Given the description of an element on the screen output the (x, y) to click on. 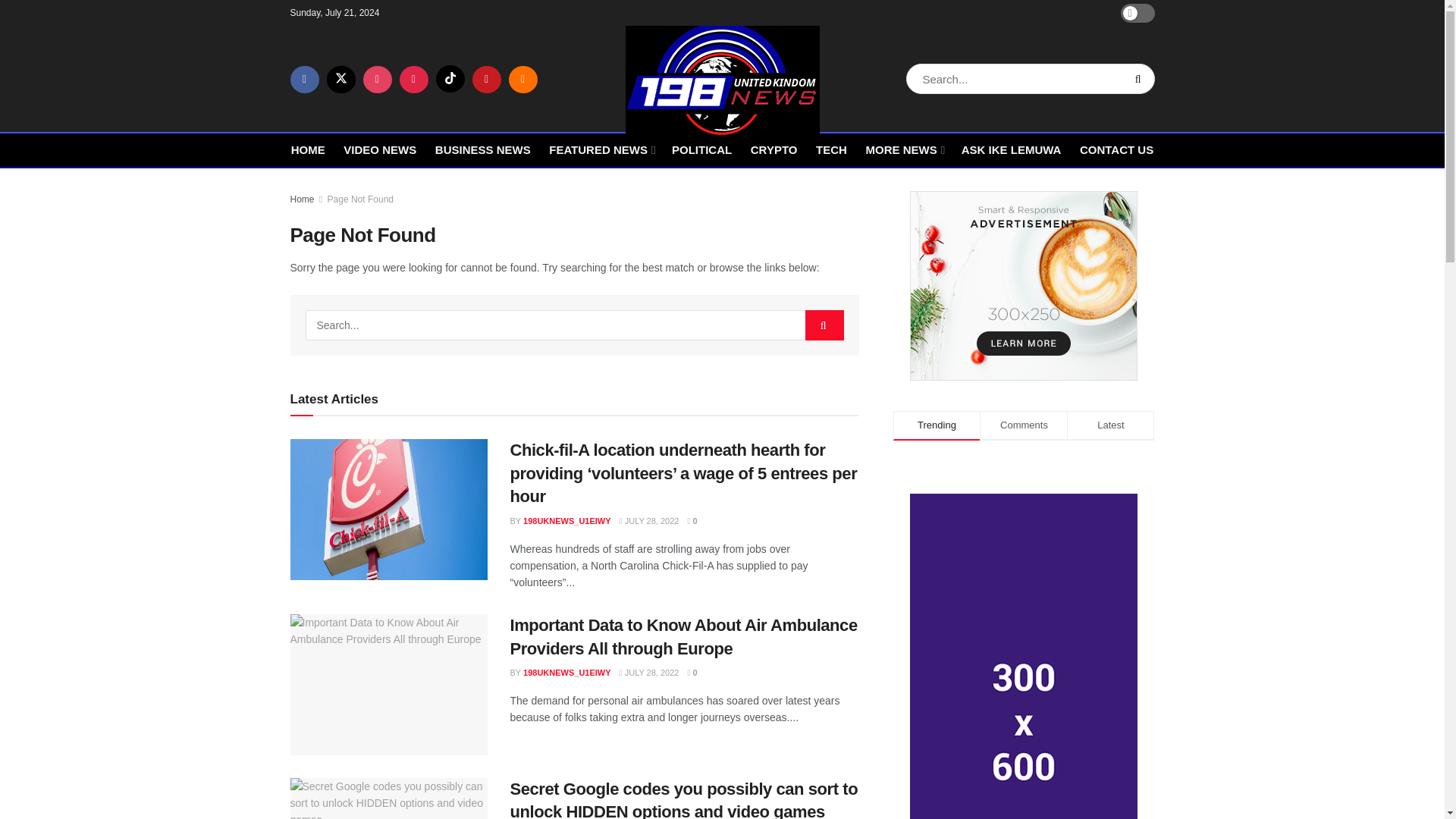
VIDEO NEWS (379, 149)
CRYPTO (774, 149)
BUSINESS NEWS (483, 149)
ASK IKE LEMUWA (1010, 149)
CONTACT US (1116, 149)
TECH (831, 149)
POLITICAL (701, 149)
MORE NEWS (903, 149)
HOME (307, 149)
FEATURED NEWS (600, 149)
